Given the description of an element on the screen output the (x, y) to click on. 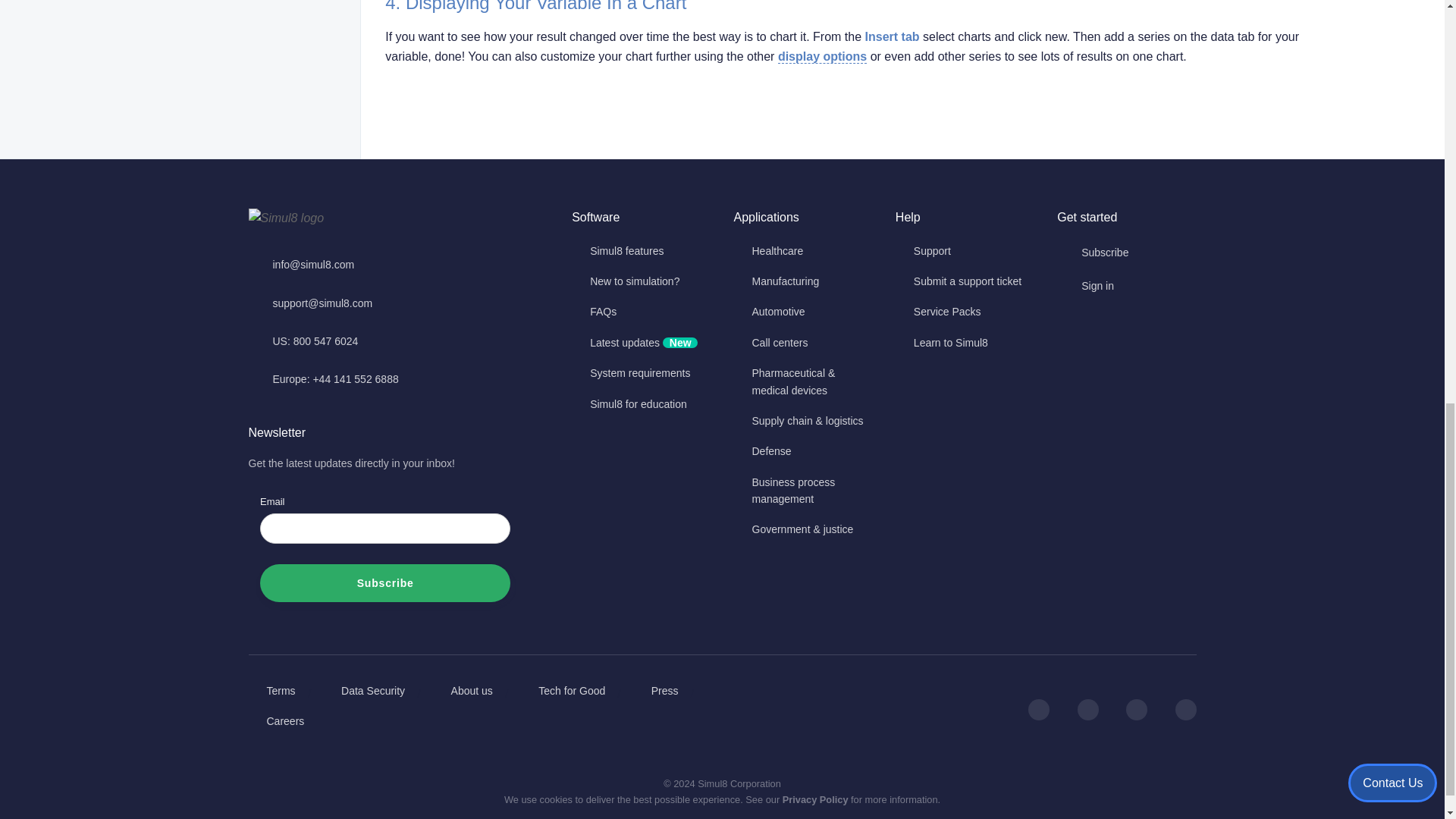
gettingaround:tabs:insert (892, 36)
tabfeatures:charts:customizable (821, 56)
Newsletter (399, 554)
